Given the description of an element on the screen output the (x, y) to click on. 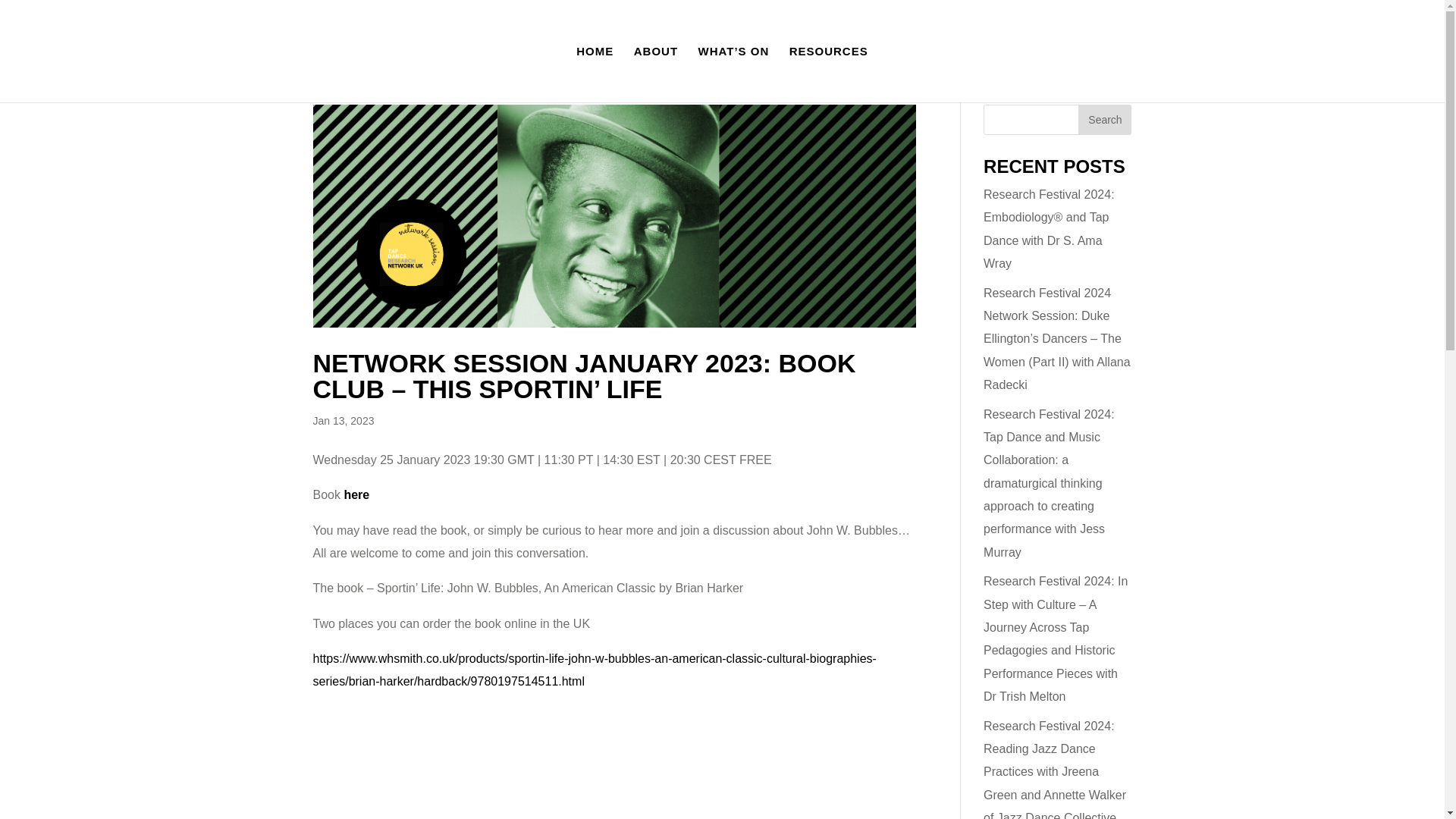
Search (1104, 119)
here (356, 494)
RESOURCES (828, 73)
Search (1104, 119)
